Given the description of an element on the screen output the (x, y) to click on. 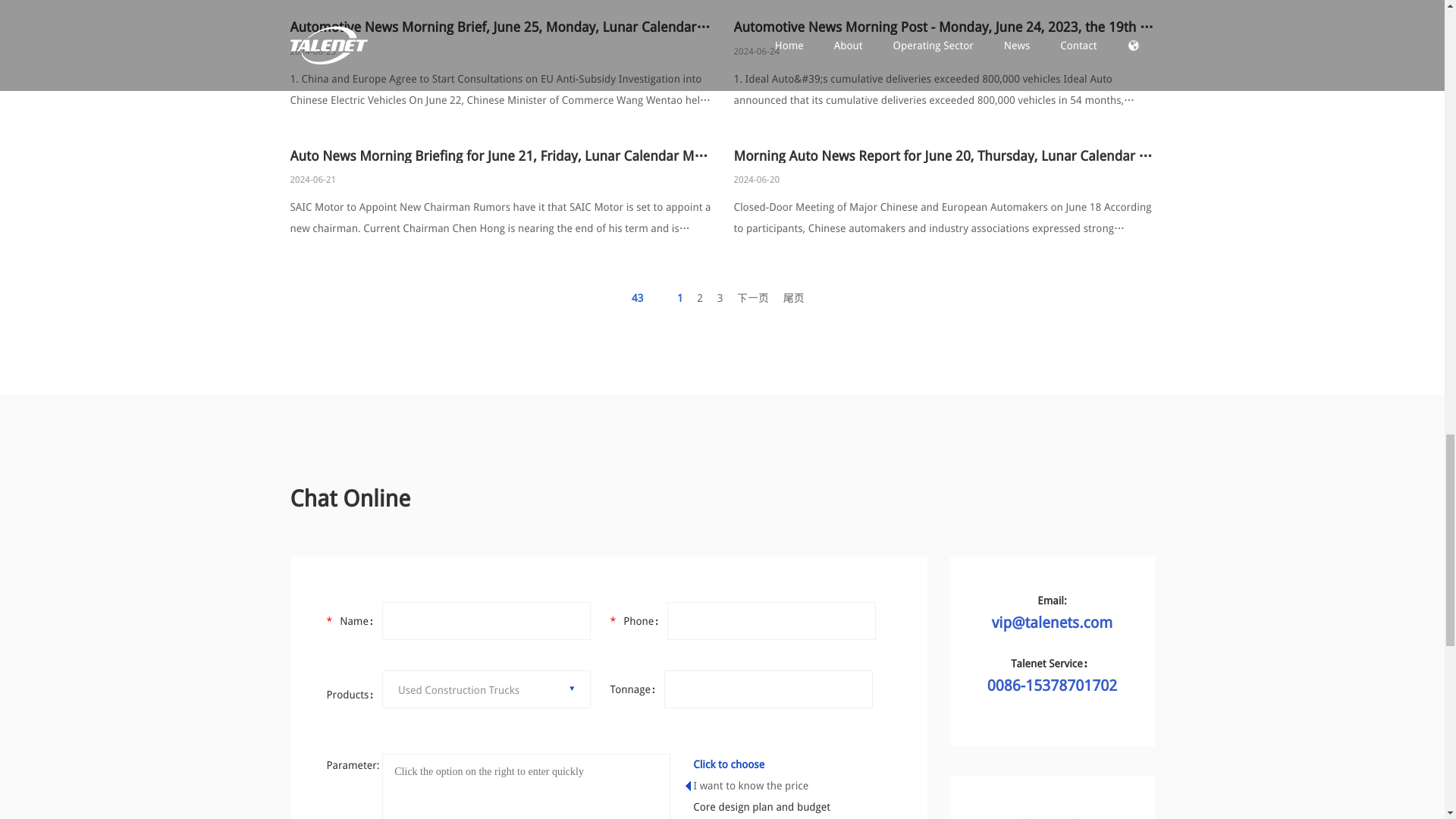
Total record (643, 297)
